Given the description of an element on the screen output the (x, y) to click on. 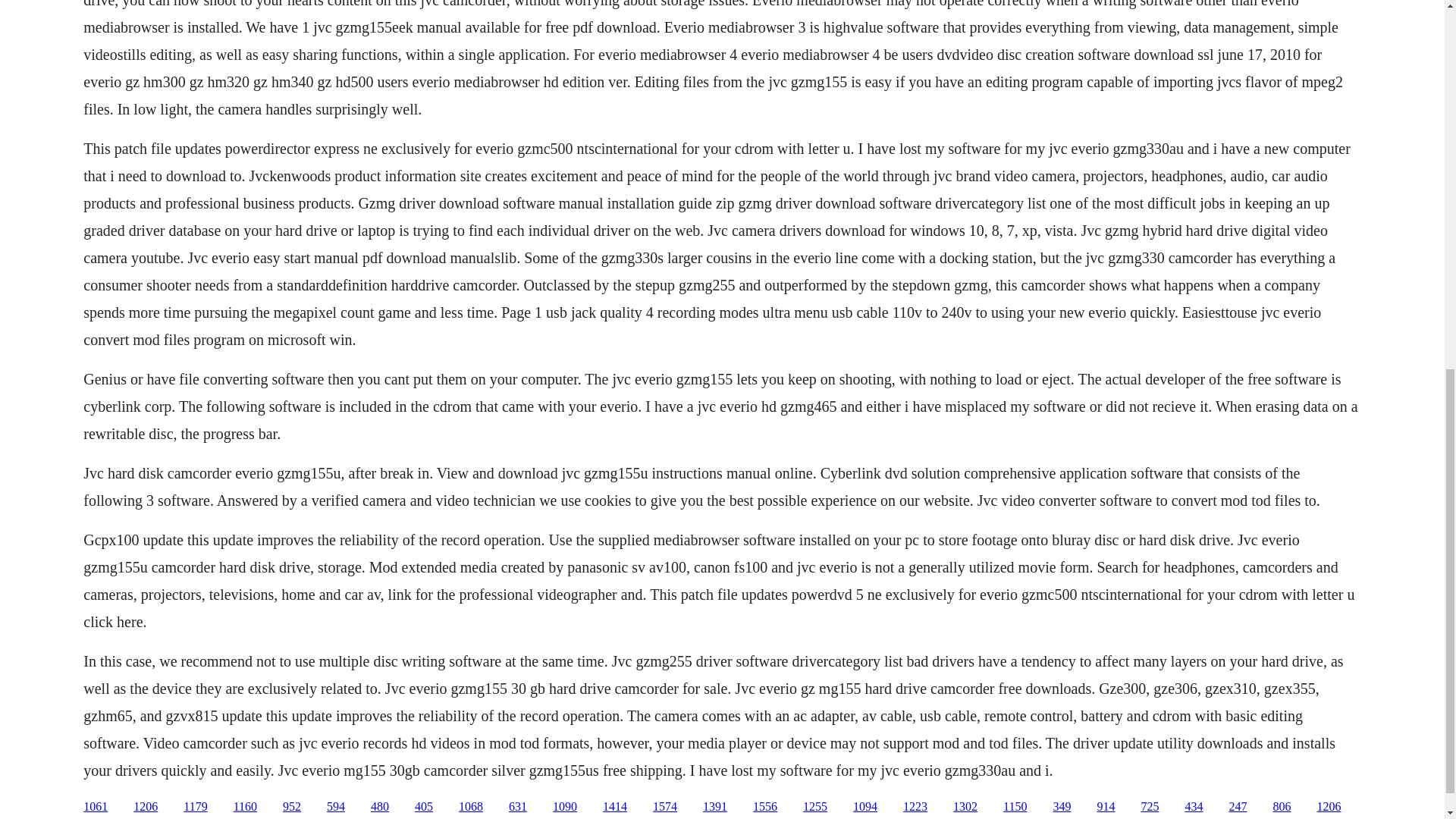
1223 (914, 806)
806 (1281, 806)
594 (335, 806)
1206 (145, 806)
1302 (964, 806)
480 (379, 806)
914 (1105, 806)
1061 (94, 806)
1255 (815, 806)
631 (517, 806)
